Given the description of an element on the screen output the (x, y) to click on. 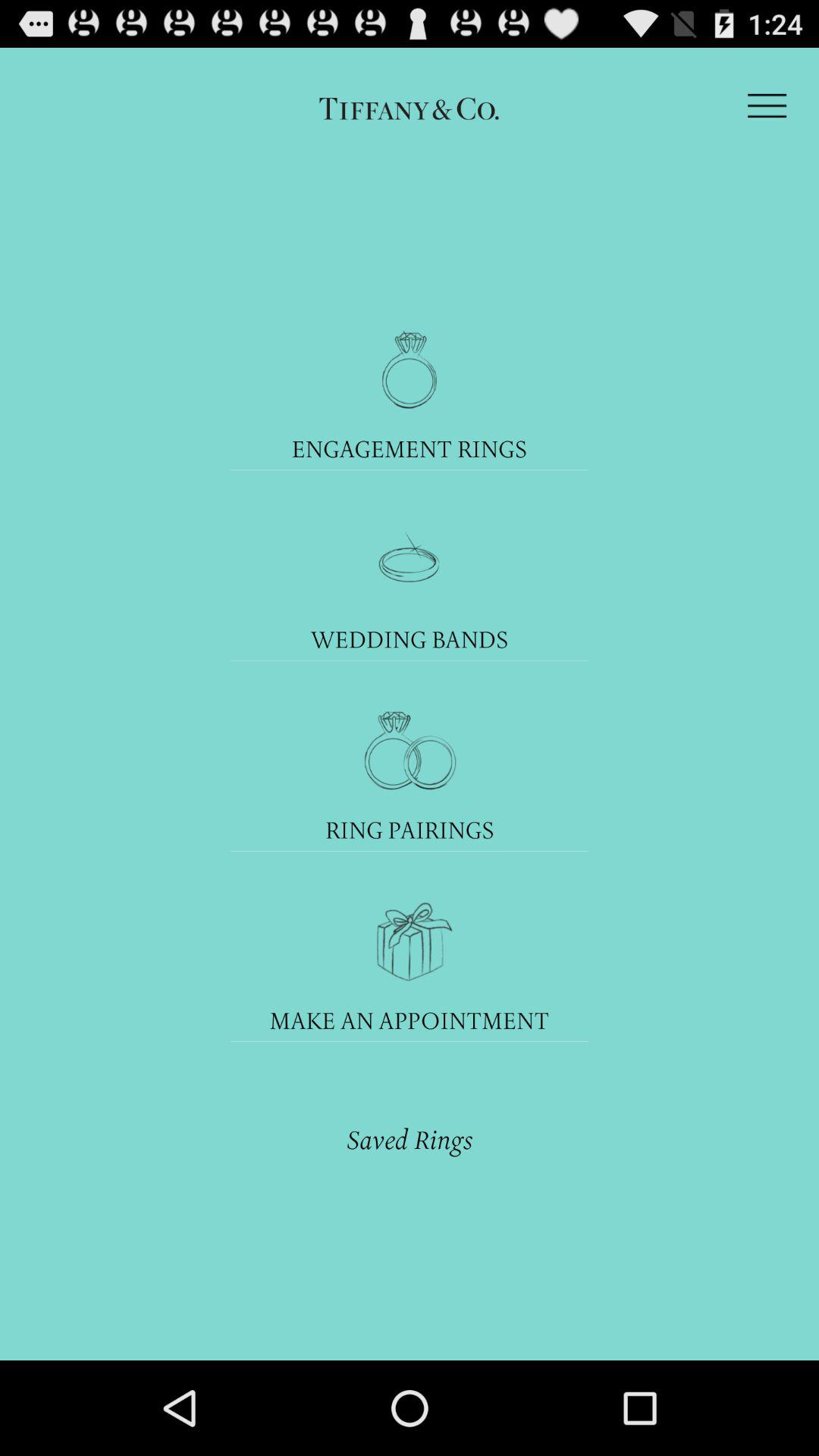
launch the icon above engagement rings (409, 369)
